Given the description of an element on the screen output the (x, y) to click on. 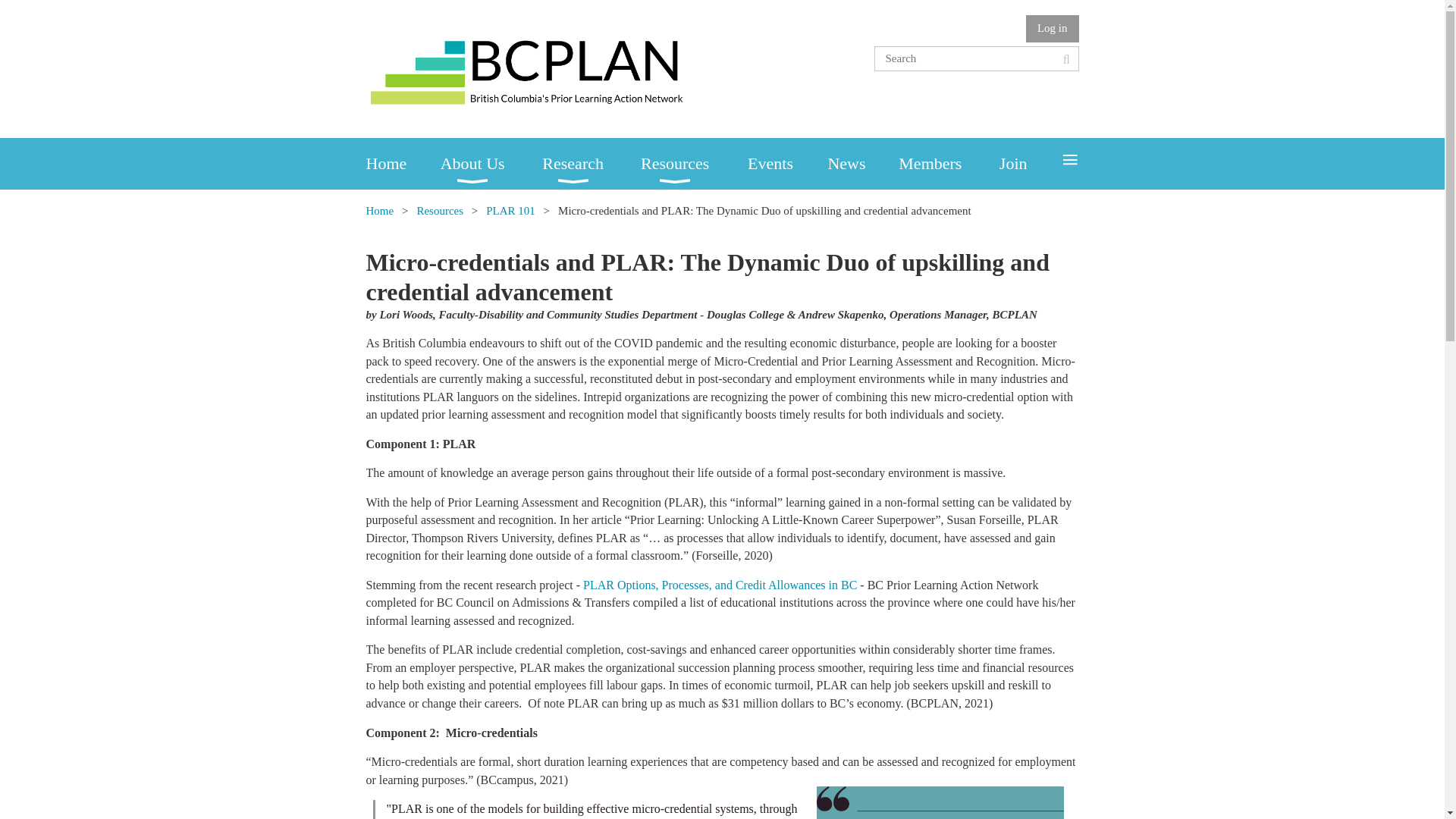
Home (402, 163)
PLAR 101 (510, 210)
Join (1028, 163)
Members (948, 163)
Research (590, 163)
Resources (694, 163)
Resources (439, 210)
News (862, 163)
Log in (1052, 28)
About Us (492, 163)
Research (590, 163)
Home (402, 163)
Events (787, 163)
Resources (694, 163)
About Us (492, 163)
